Given the description of an element on the screen output the (x, y) to click on. 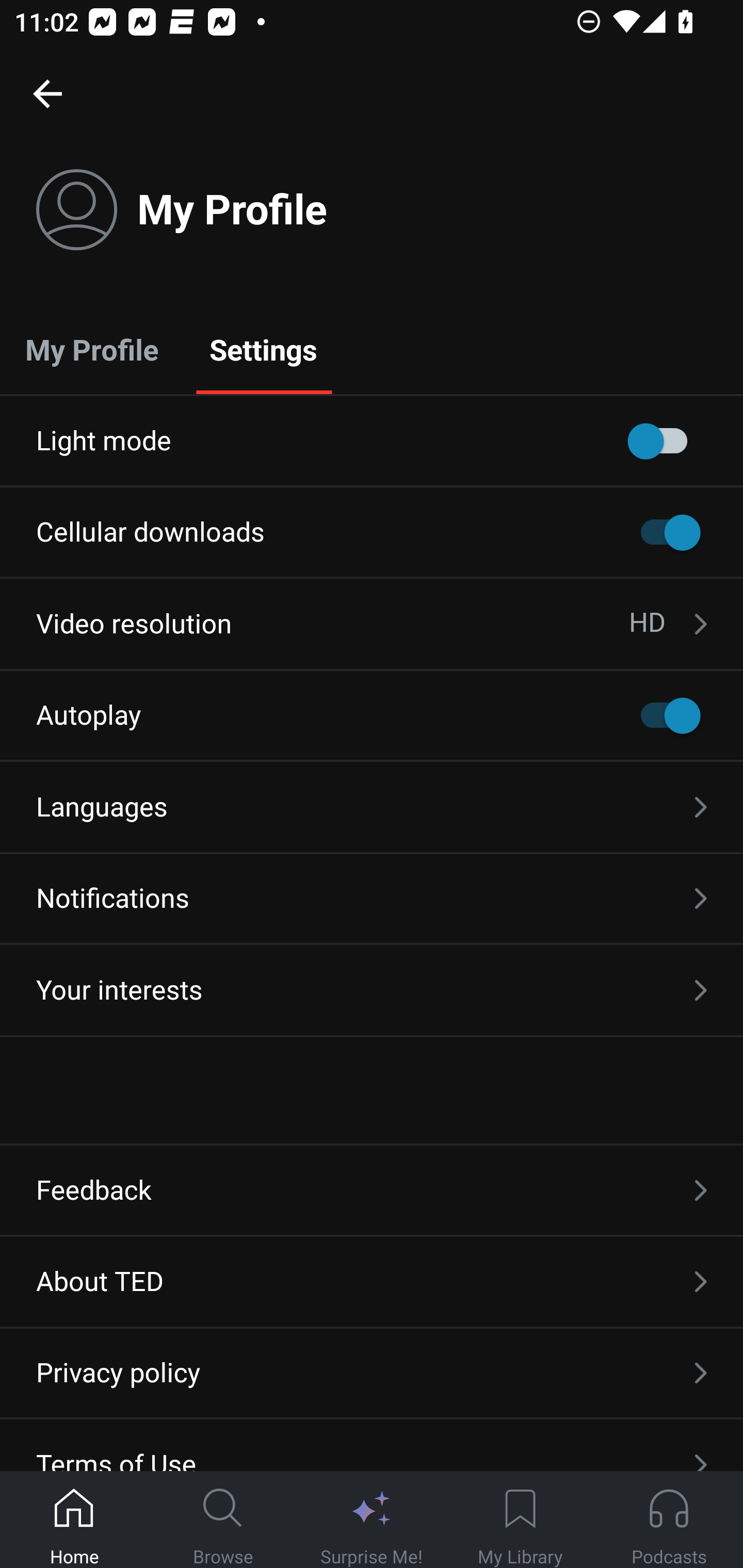
Home, back (47, 92)
My Profile (92, 348)
Settings (263, 348)
Video resolution HD (371, 623)
Languages (371, 806)
Notifications (371, 897)
Your interests (371, 989)
Feedback (371, 1190)
About TED (371, 1281)
Privacy policy (371, 1372)
Terms of Use (371, 1445)
Home (74, 1520)
Browse (222, 1520)
Surprise Me! (371, 1520)
My Library (519, 1520)
Podcasts (668, 1520)
